Given the description of an element on the screen output the (x, y) to click on. 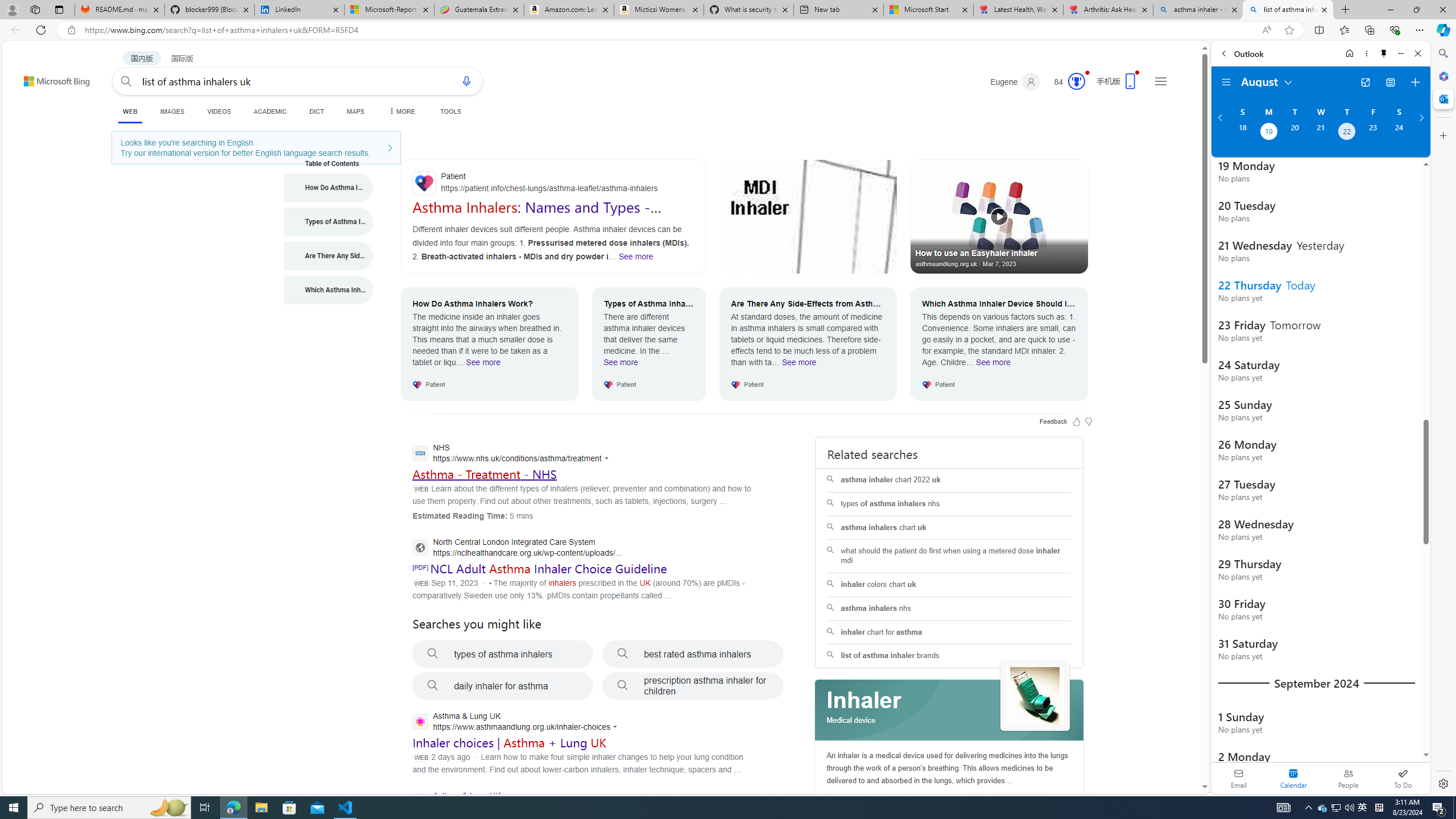
Search using voice (465, 80)
Inhaler choices | Asthma + Lung UK (509, 742)
asthma inhaler - Search (1197, 9)
View Switcher. Current view is Agenda view (1390, 82)
AutomationID: rh_meter (1076, 80)
NHS (513, 454)
Animation (1086, 72)
WEB (129, 111)
